Given the description of an element on the screen output the (x, y) to click on. 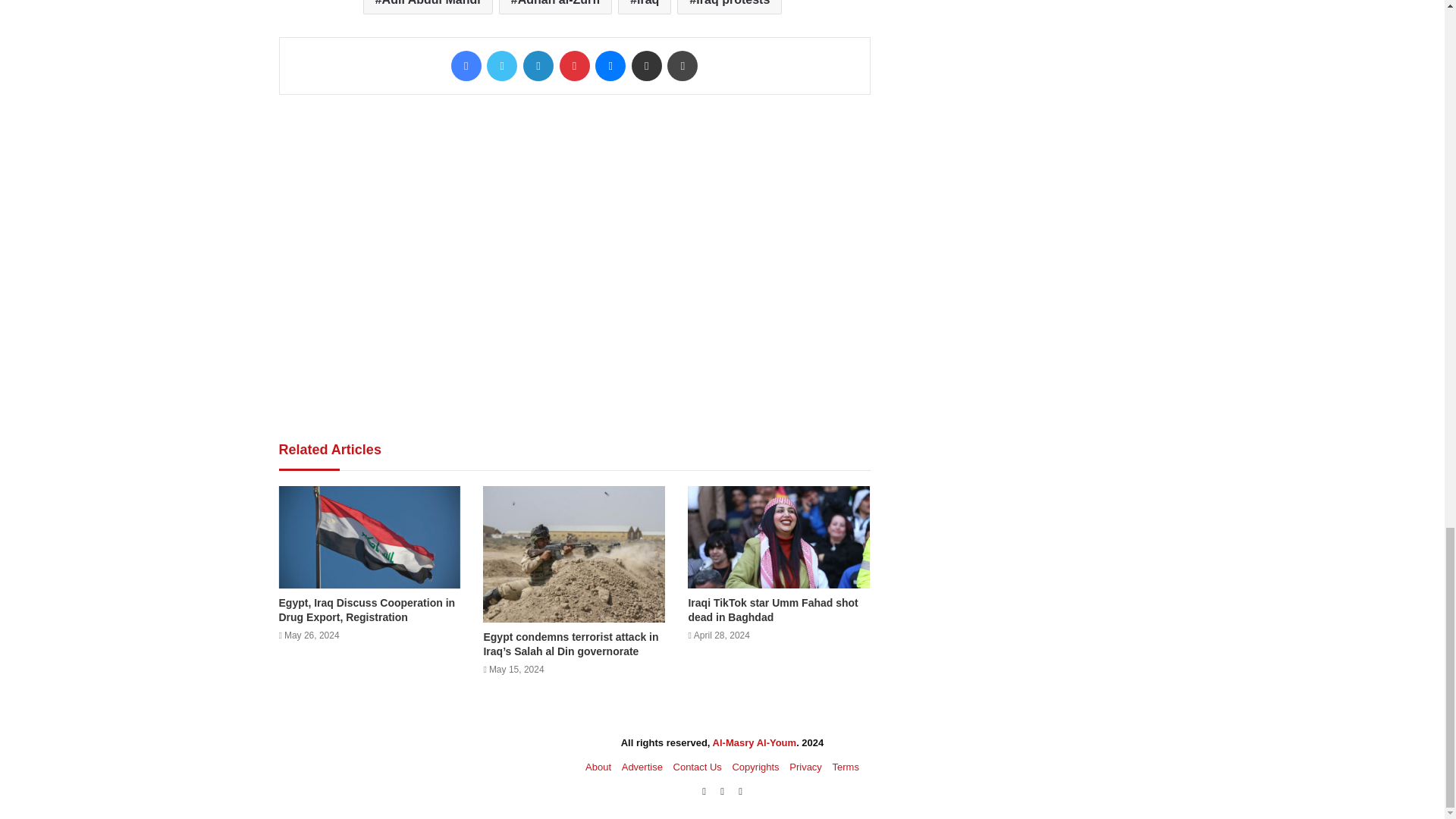
Messenger (610, 65)
Iraq protests (729, 7)
LinkedIn (537, 65)
Twitter (501, 65)
Twitter (501, 65)
Facebook (466, 65)
LinkedIn (537, 65)
Facebook (466, 65)
Messenger (610, 65)
Share via Email (646, 65)
Share via Email (646, 65)
iraq (644, 7)
Print (681, 65)
Adnan al-Zurfi (555, 7)
Pinterest (574, 65)
